Given the description of an element on the screen output the (x, y) to click on. 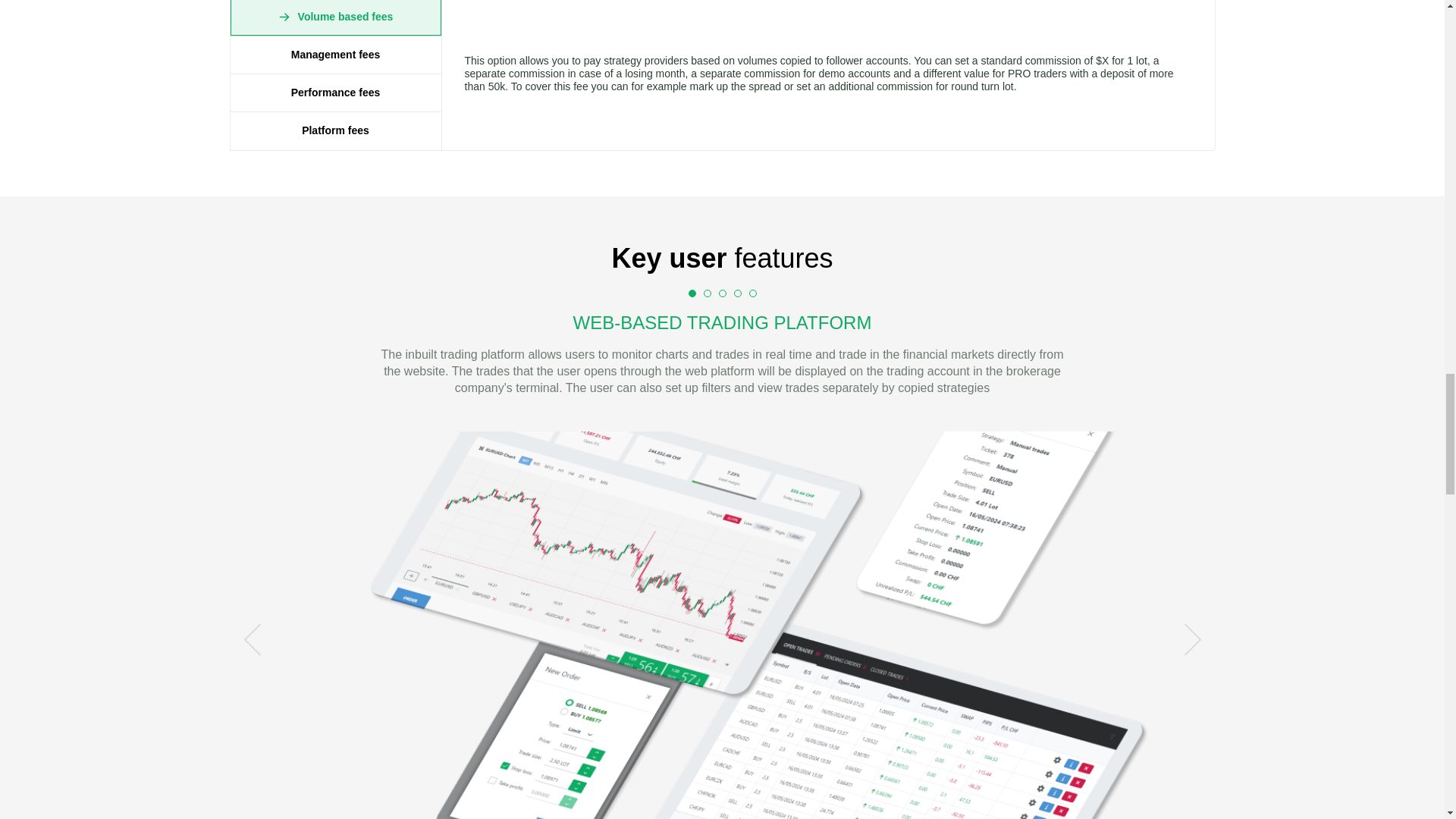
Performance fees (335, 93)
Volume based fees (335, 18)
Platform fees (335, 130)
Management fees (335, 55)
